Given the description of an element on the screen output the (x, y) to click on. 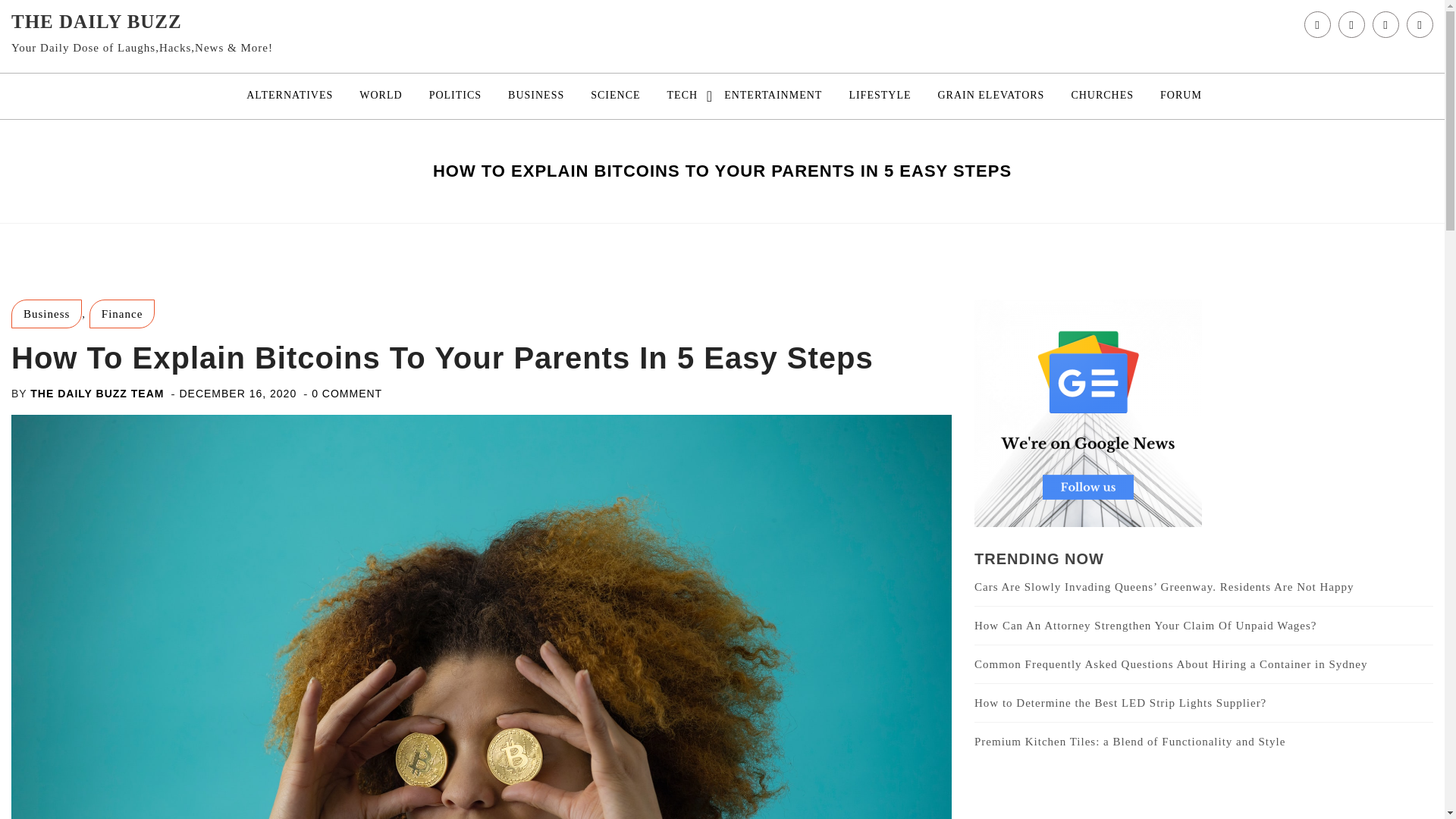
THE DAILY BUZZ TEAM (96, 393)
DECEMBER 16, 2020 (238, 393)
TECH (683, 95)
THE DAILY BUZZ (96, 21)
LIFESTYLE (879, 95)
Business (46, 313)
WORLD (380, 95)
Finance (121, 313)
BUSINESS (535, 95)
